Given the description of an element on the screen output the (x, y) to click on. 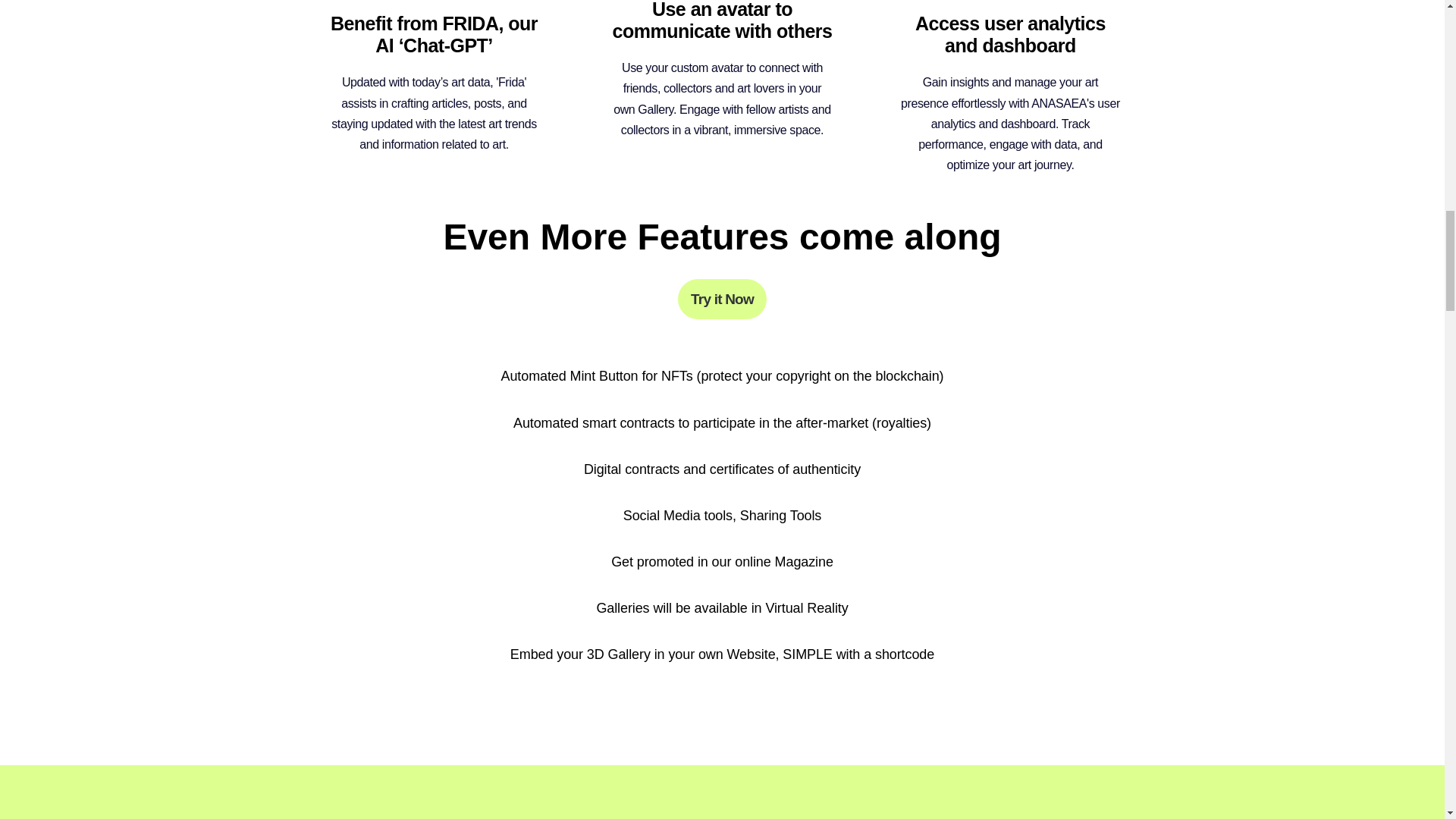
Try it Now (722, 299)
